Given the description of an element on the screen output the (x, y) to click on. 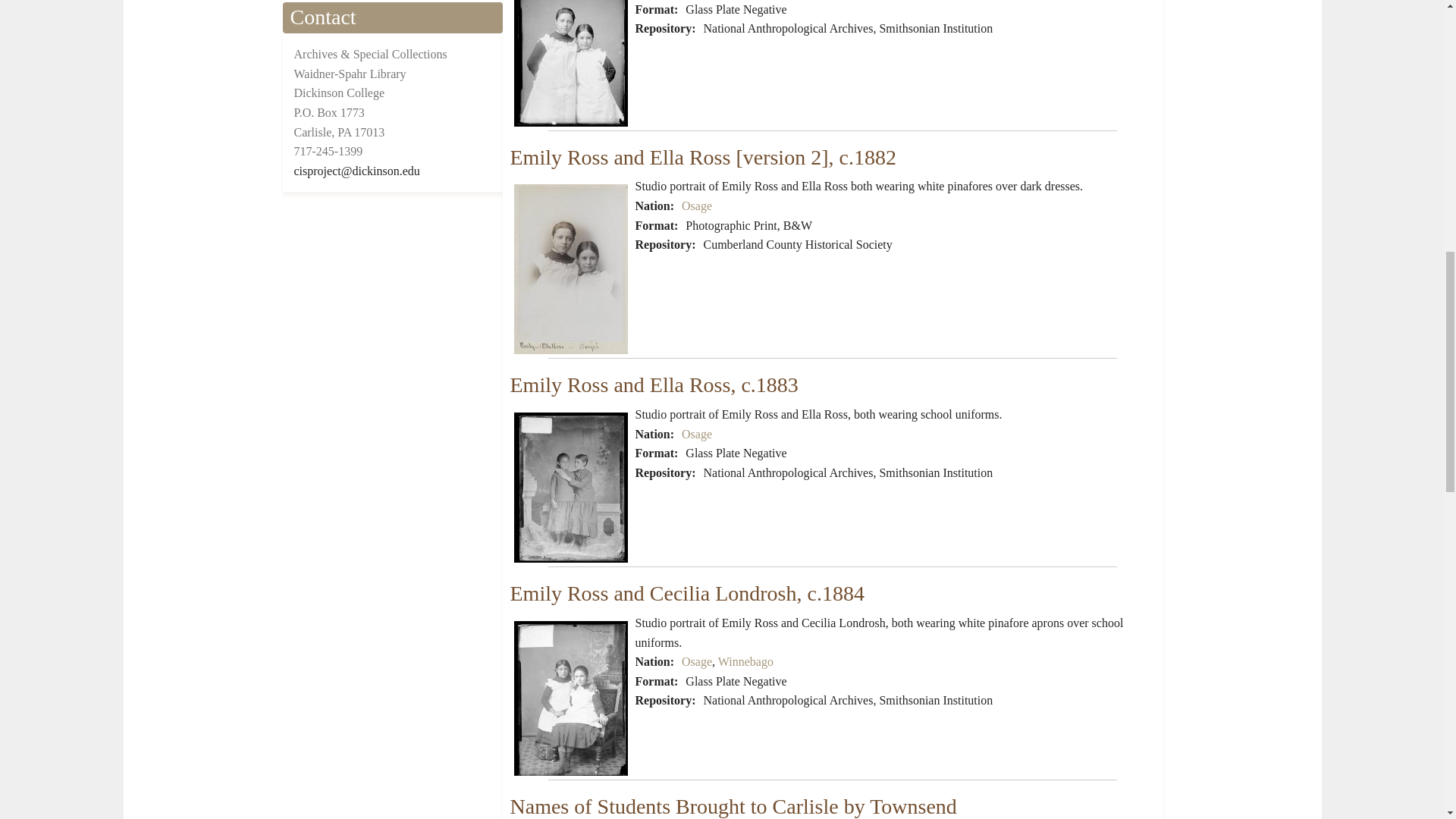
Osage (696, 433)
Emily Ross and Ella Ross, c.1883 (653, 384)
Osage (696, 661)
Emily Ross and Cecilia Londrosh, c.1884 (686, 593)
Winnebago (745, 661)
Names of Students Brought to Carlisle by Townsend (732, 806)
Osage (696, 205)
